Given the description of an element on the screen output the (x, y) to click on. 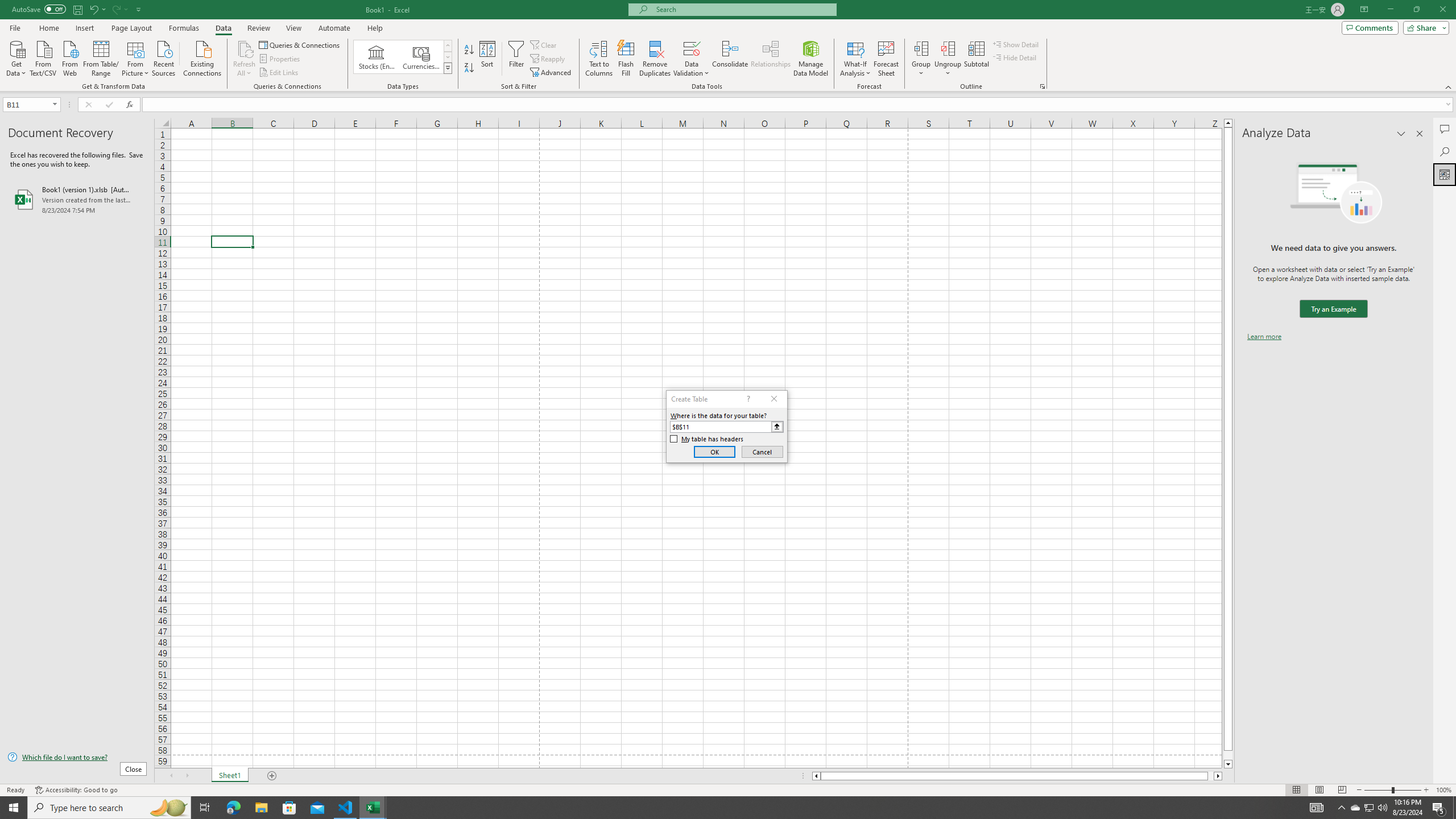
From Text/CSV (43, 57)
Forecast Sheet (885, 58)
Relationships (770, 58)
Filter (515, 58)
Show Detail (1016, 44)
Row Down (448, 56)
Get Data (16, 57)
Scroll Right (187, 775)
Ungroup... (947, 58)
Line down (1228, 764)
Currencies (English) (420, 56)
Class: NetUIScrollBar (1016, 775)
Group... (921, 58)
File Tab (15, 27)
